Given the description of an element on the screen output the (x, y) to click on. 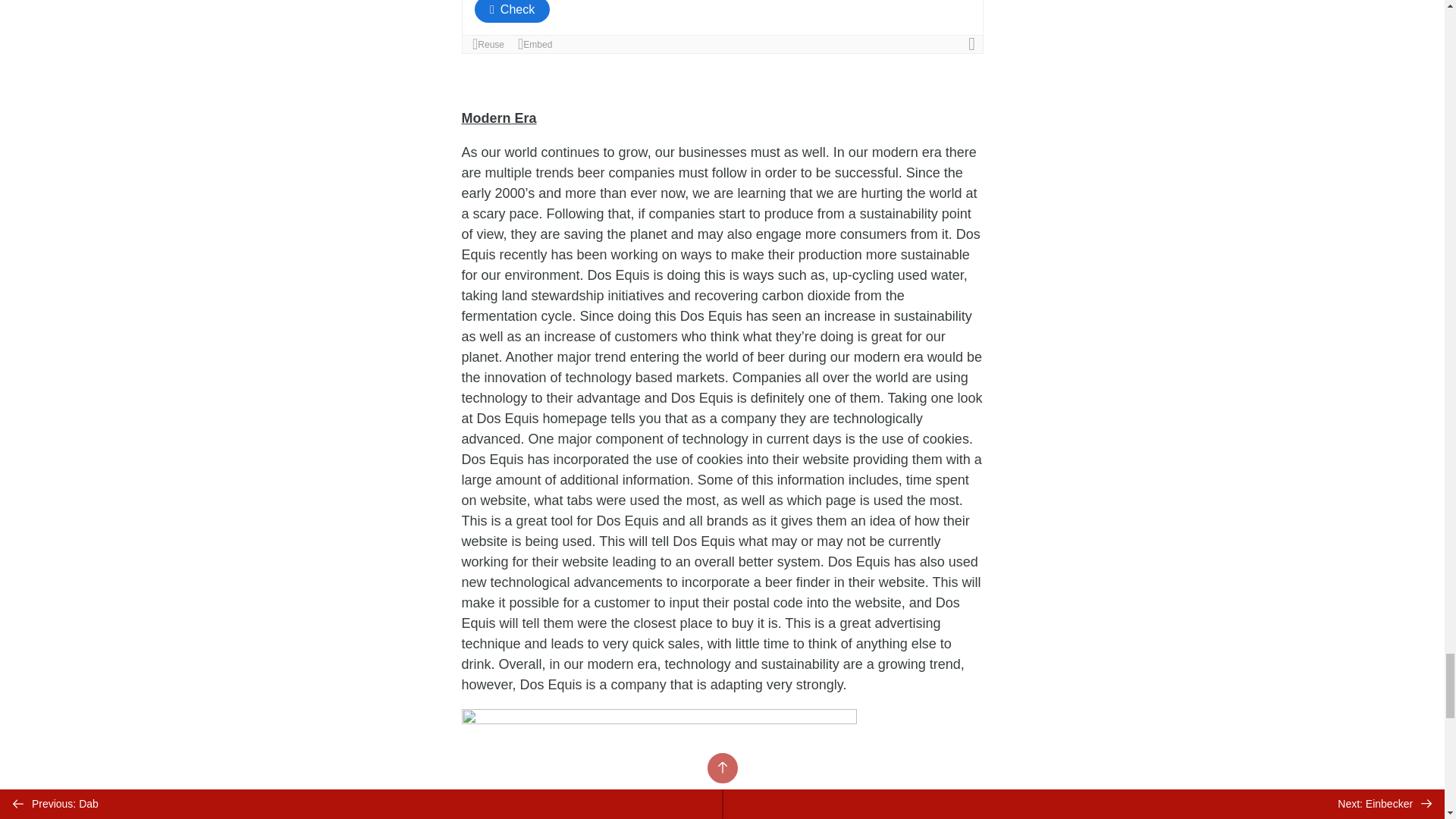
Knowledge Check (721, 27)
